Given the description of an element on the screen output the (x, y) to click on. 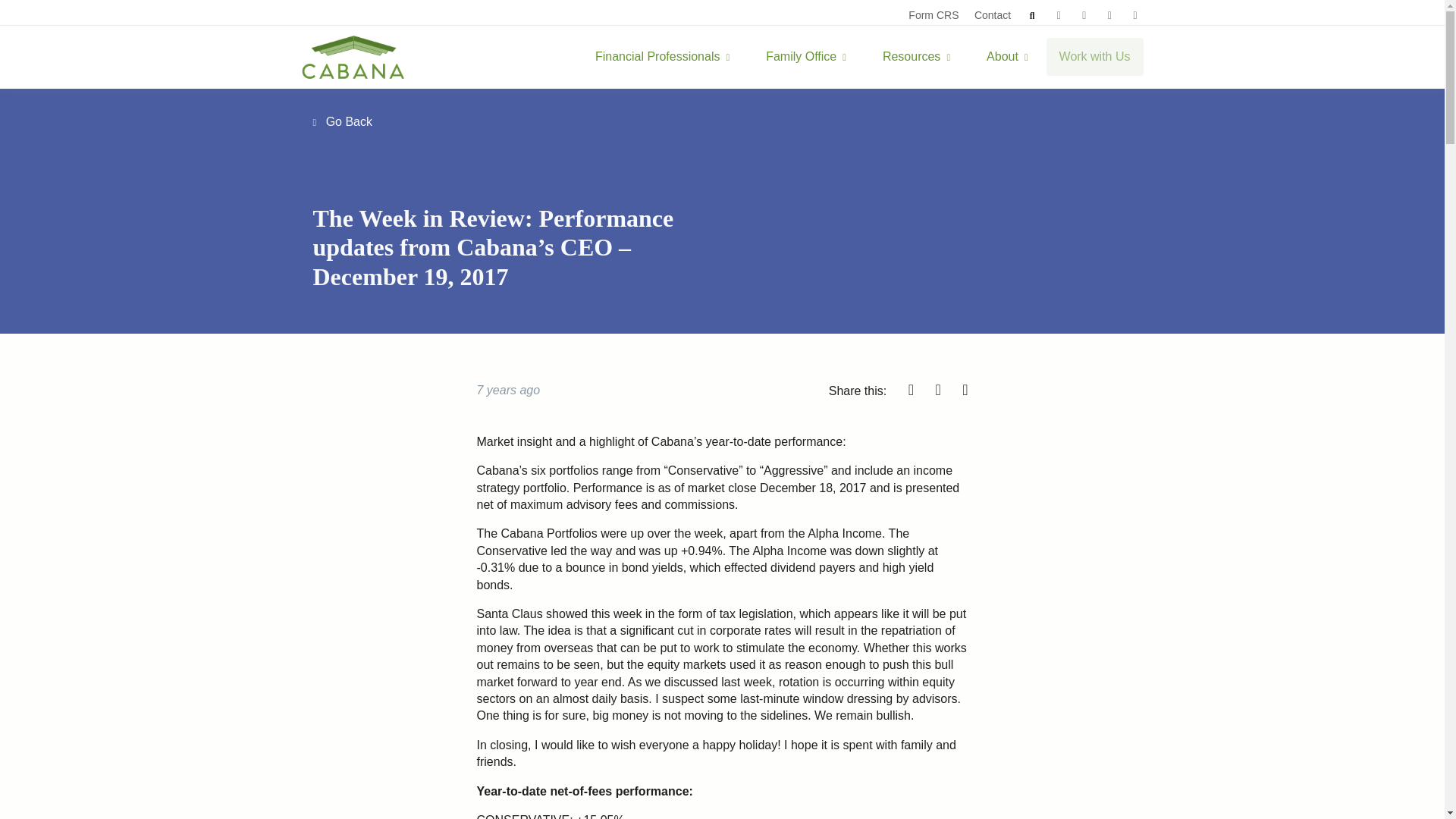
Visit Cabana on LinkedIn (1083, 15)
Family Office (805, 56)
Resources (916, 56)
Work with Us (1094, 56)
Visit Cabana on Facebook (1059, 15)
Resources (916, 56)
Contact (992, 15)
Family Office (662, 56)
About (1006, 56)
Go Back (342, 121)
About (1006, 56)
Form CRS (932, 15)
Financial Professionals (662, 56)
Family Office (805, 56)
